Given the description of an element on the screen output the (x, y) to click on. 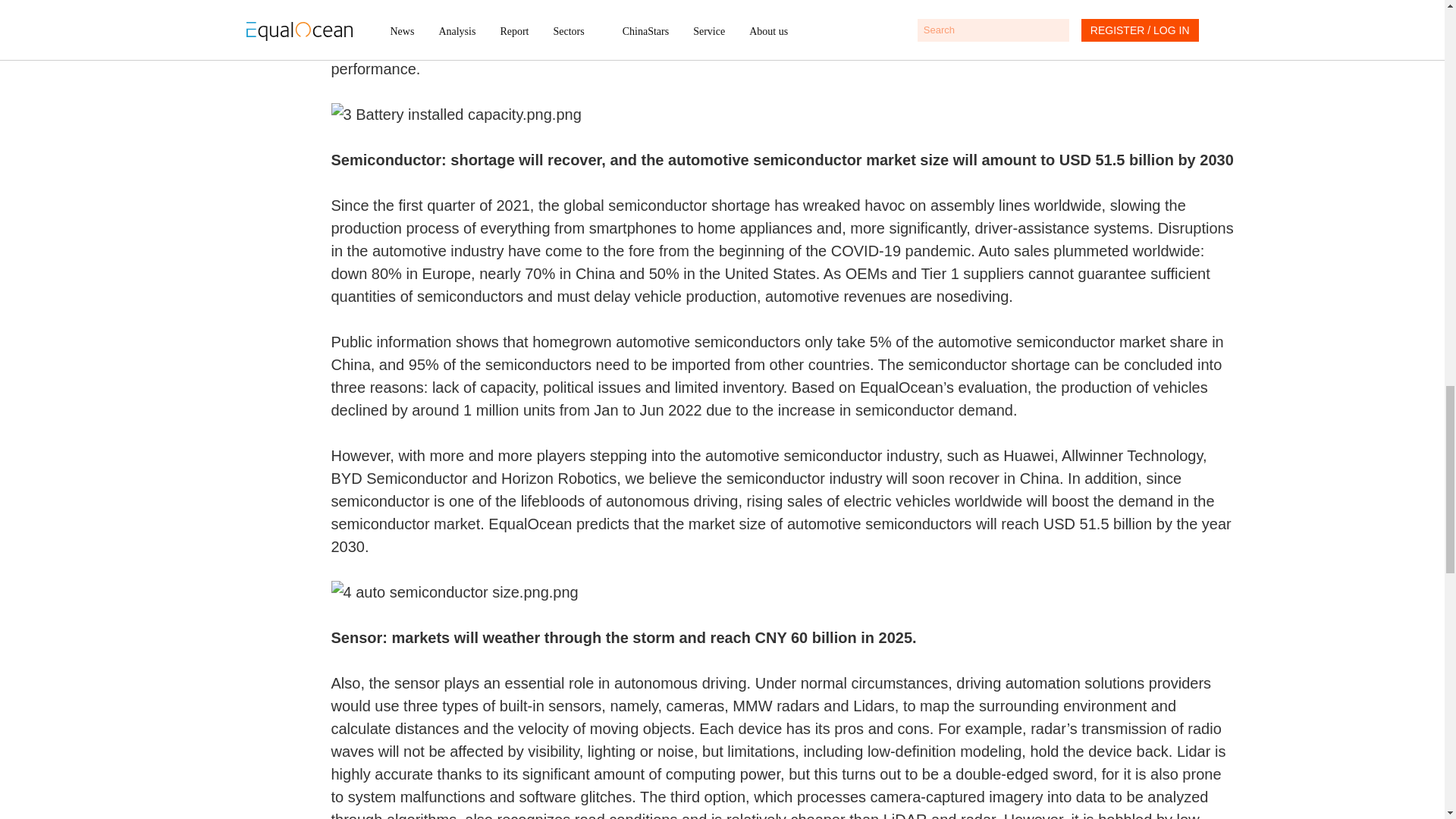
16660843625410.png (781, 114)
16660845297366.png (781, 591)
